Given the description of an element on the screen output the (x, y) to click on. 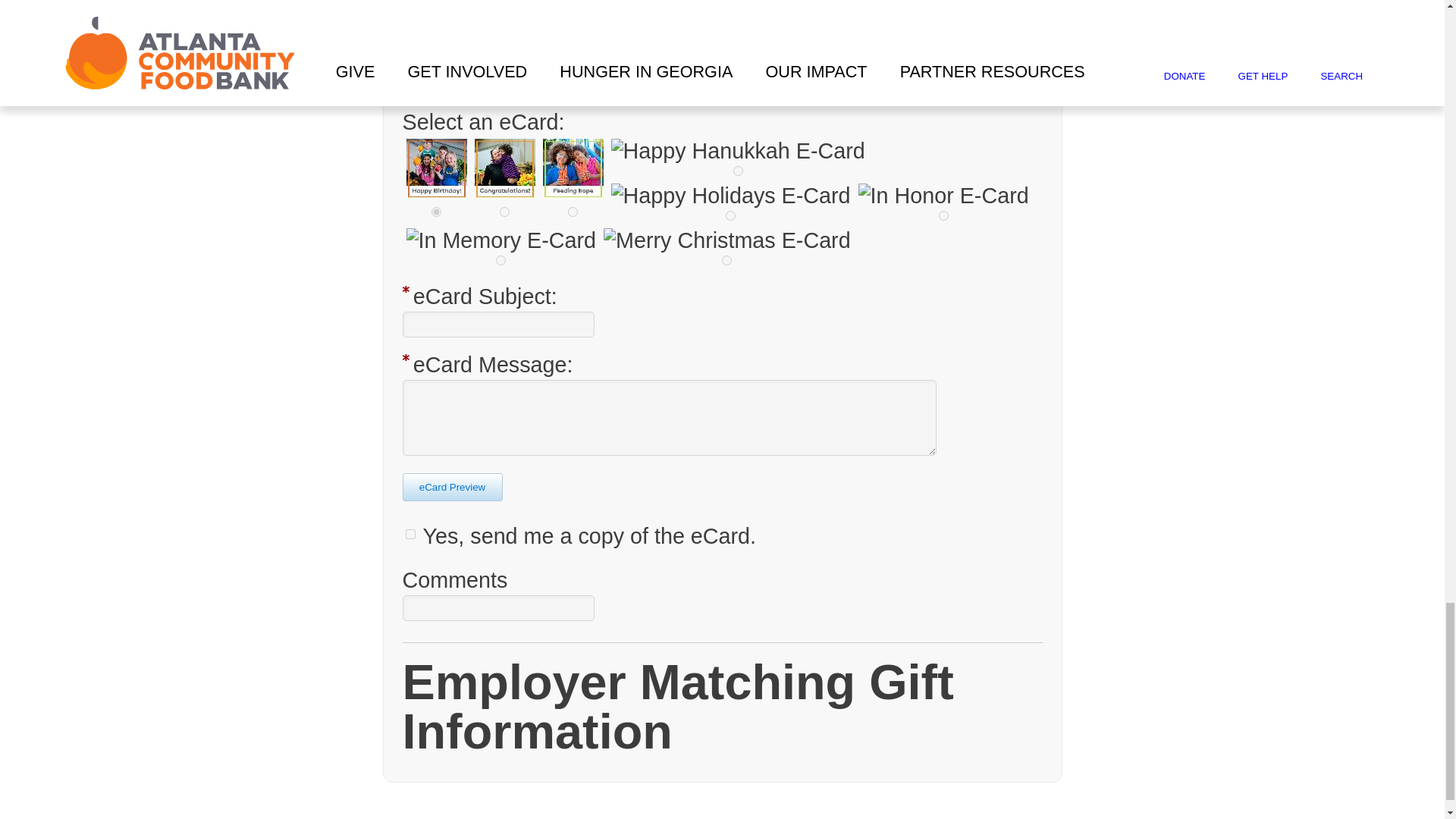
eCard Preview (451, 487)
4842 (435, 212)
Reloads page.  (451, 487)
